Given the description of an element on the screen output the (x, y) to click on. 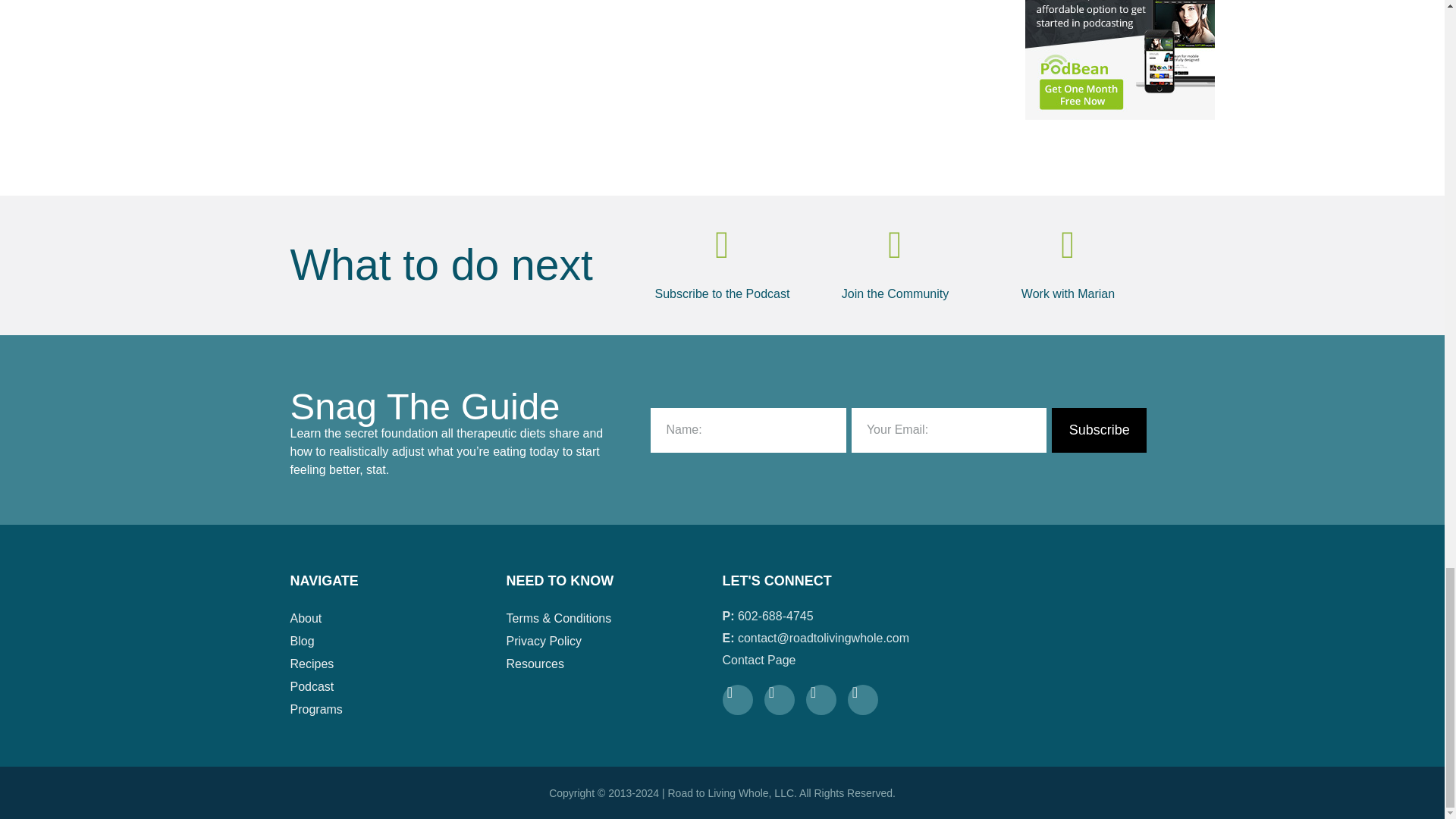
Subscribe to the Podcast (722, 293)
Join the Community (895, 293)
